Given the description of an element on the screen output the (x, y) to click on. 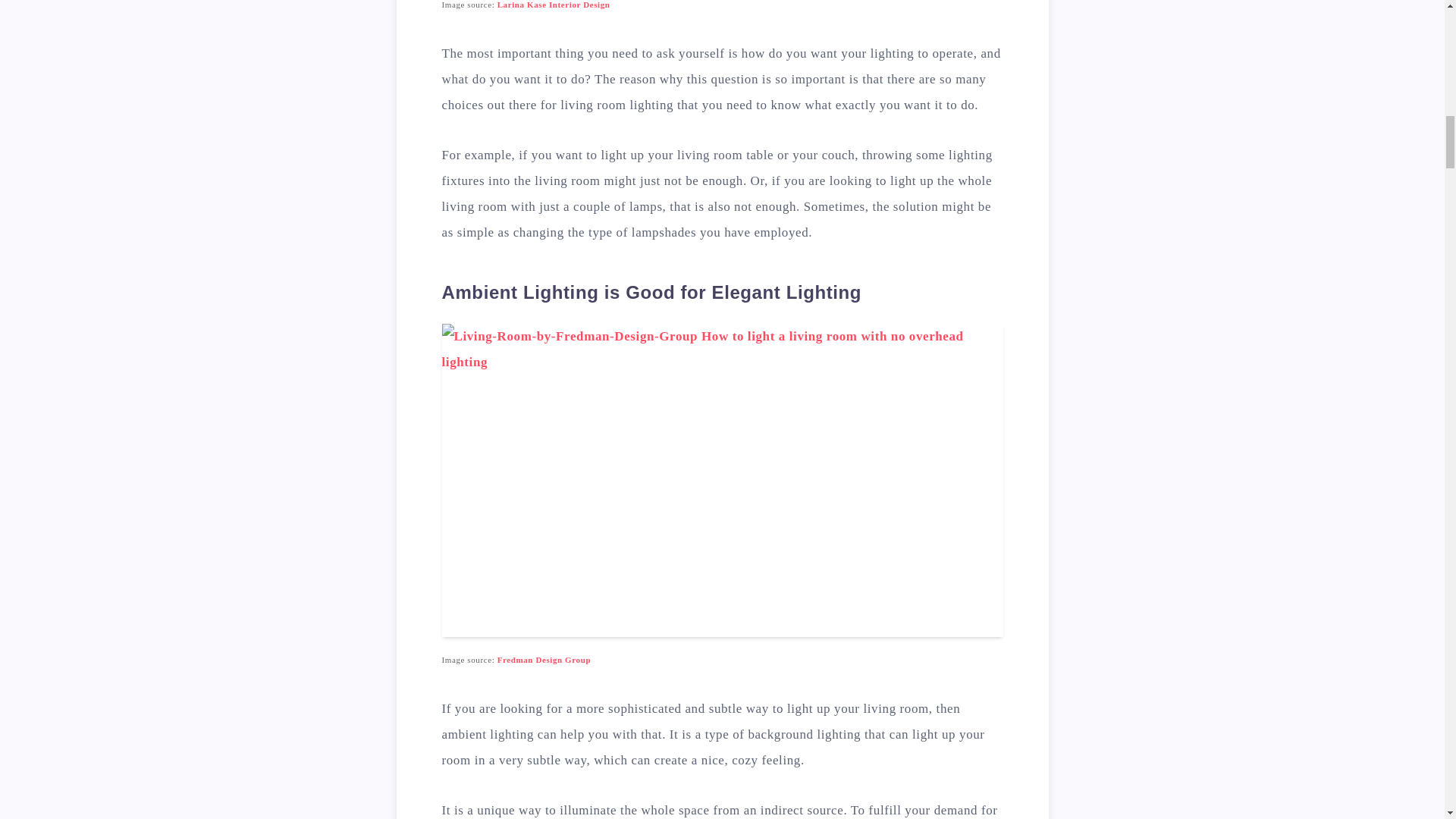
Fredman Design Group (544, 659)
Larina Kase Interior Design (553, 4)
